Given the description of an element on the screen output the (x, y) to click on. 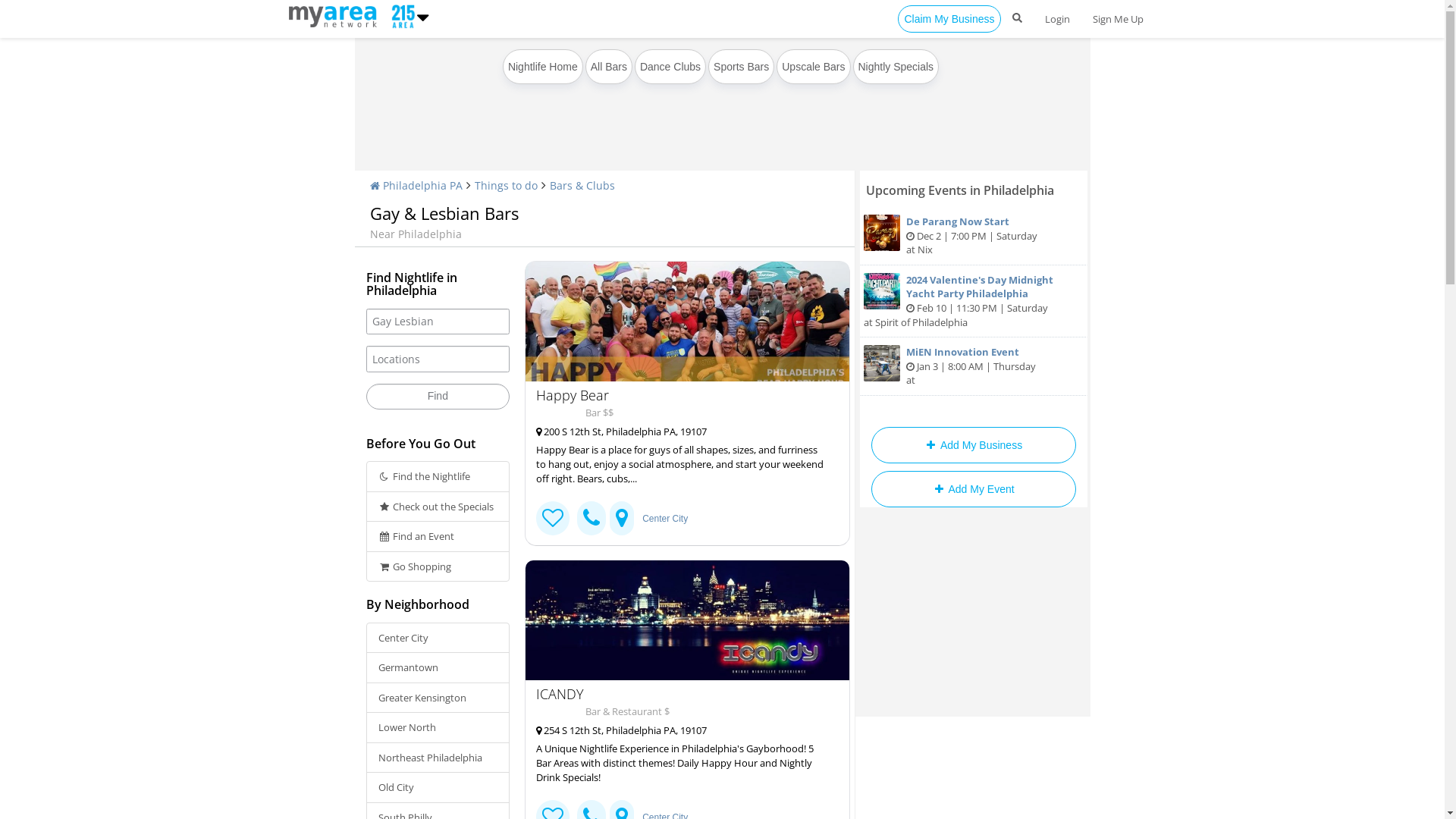
Northeast Philadelphia Element type: text (437, 757)
Greater Kensington Element type: text (437, 697)
Nightlife Home Element type: text (542, 66)
254 S 12th St, Philadelphia PA, 19107 Element type: text (680, 730)
Bars & Clubs Element type: text (581, 185)
Go Shopping Element type: text (437, 566)
Happy Bear Element type: text (680, 394)
De Parang Now Start
Dec 2 | 7:00 PM | Saturday
at Nix Element type: text (973, 236)
Center City Element type: text (664, 518)
Lower North Element type: text (437, 727)
Find an Event Element type: text (437, 536)
MiEN Innovation Event
Jan 3 | 8:00 AM | Thursday
at Element type: text (973, 366)
Things to do Element type: text (505, 185)
Philadelphia PA Element type: text (416, 185)
Nightly Specials Element type: text (895, 66)
Add My Business Element type: text (972, 444)
Dance Clubs Element type: text (670, 66)
Happy Bear Element type: hover (687, 321)
https://www.215area.com Element type: hover (400, 15)
Find Element type: text (437, 396)
Find the Nightlife Element type: text (437, 476)
200 S 12th St, Philadelphia PA, 19107 Element type: text (680, 431)
https://www.215area.com Element type: hover (335, 15)
All Bars Element type: text (608, 66)
ICANDY Element type: hover (687, 620)
tel:215681-3226 Element type: hover (591, 518)
Login Element type: text (1056, 18)
Center City Element type: text (437, 637)
Business Location Element type: hover (621, 518)
Upcoming Events in Philadelphia Element type: text (960, 190)
Germantown Element type: text (437, 667)
Sports Bars Element type: text (741, 66)
Sign Me Up Element type: text (1117, 18)
Old City Element type: text (437, 787)
Connect Element type: hover (552, 518)
ICANDY Element type: text (680, 693)
Upscale Bars Element type: text (813, 66)
Check out the Specials Element type: text (437, 506)
Add My Event Element type: text (972, 488)
Claim My Business Element type: text (948, 18)
